Given the description of an element on the screen output the (x, y) to click on. 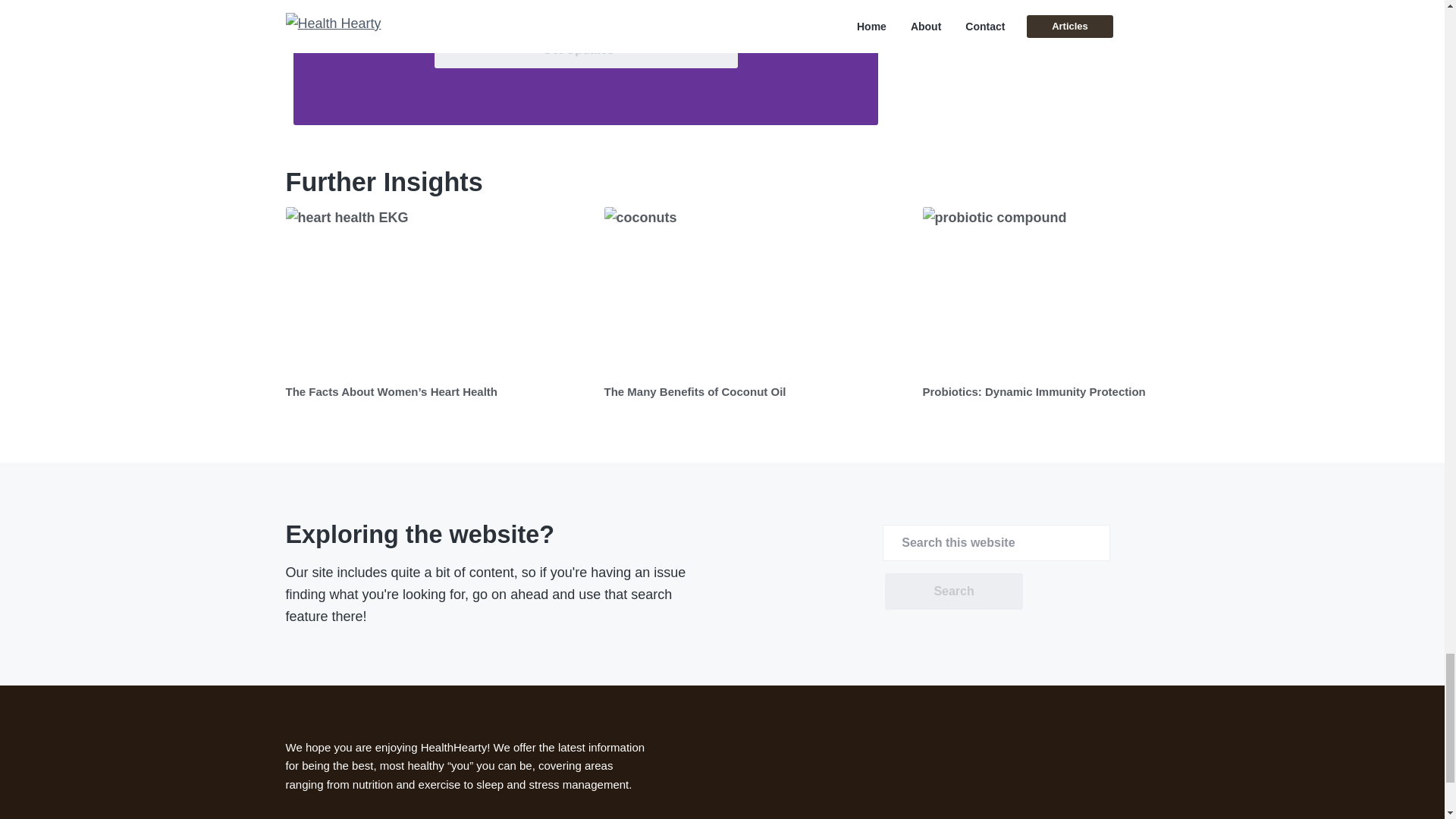
Permanent Link (695, 391)
Search (953, 591)
Permanent Link (436, 291)
Search (953, 591)
Permanent Link (391, 391)
Permanent Link (755, 291)
Permanent Link (1032, 391)
Permanent Link (1073, 291)
Probiotics: Dynamic Immunity Protection (1032, 391)
The Many Benefits of Coconut Oil (695, 391)
Search (953, 591)
